Given the description of an element on the screen output the (x, y) to click on. 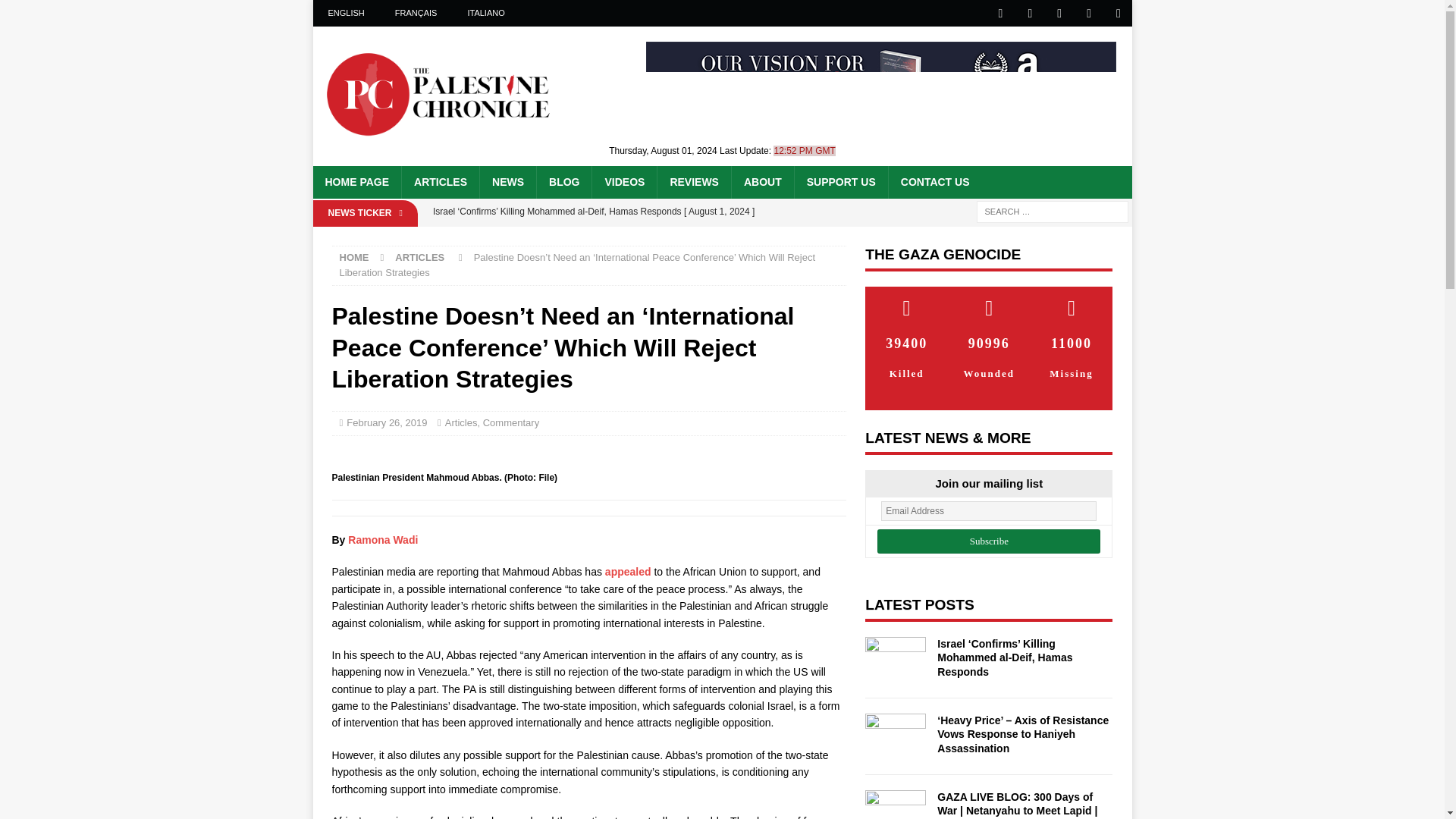
February 26, 2019 (386, 422)
ARTICLES (440, 182)
Commentary (510, 422)
HOME (354, 256)
ARTICLES (419, 256)
Display all articles for Ramona Wadi (382, 539)
appealed (627, 571)
HOME PAGE (357, 182)
ENGLISH (345, 13)
REVIEWS (693, 182)
BLOG (563, 182)
CONTACT US (934, 182)
Articles (461, 422)
SUPPORT US (840, 182)
NEWS (507, 182)
